Given the description of an element on the screen output the (x, y) to click on. 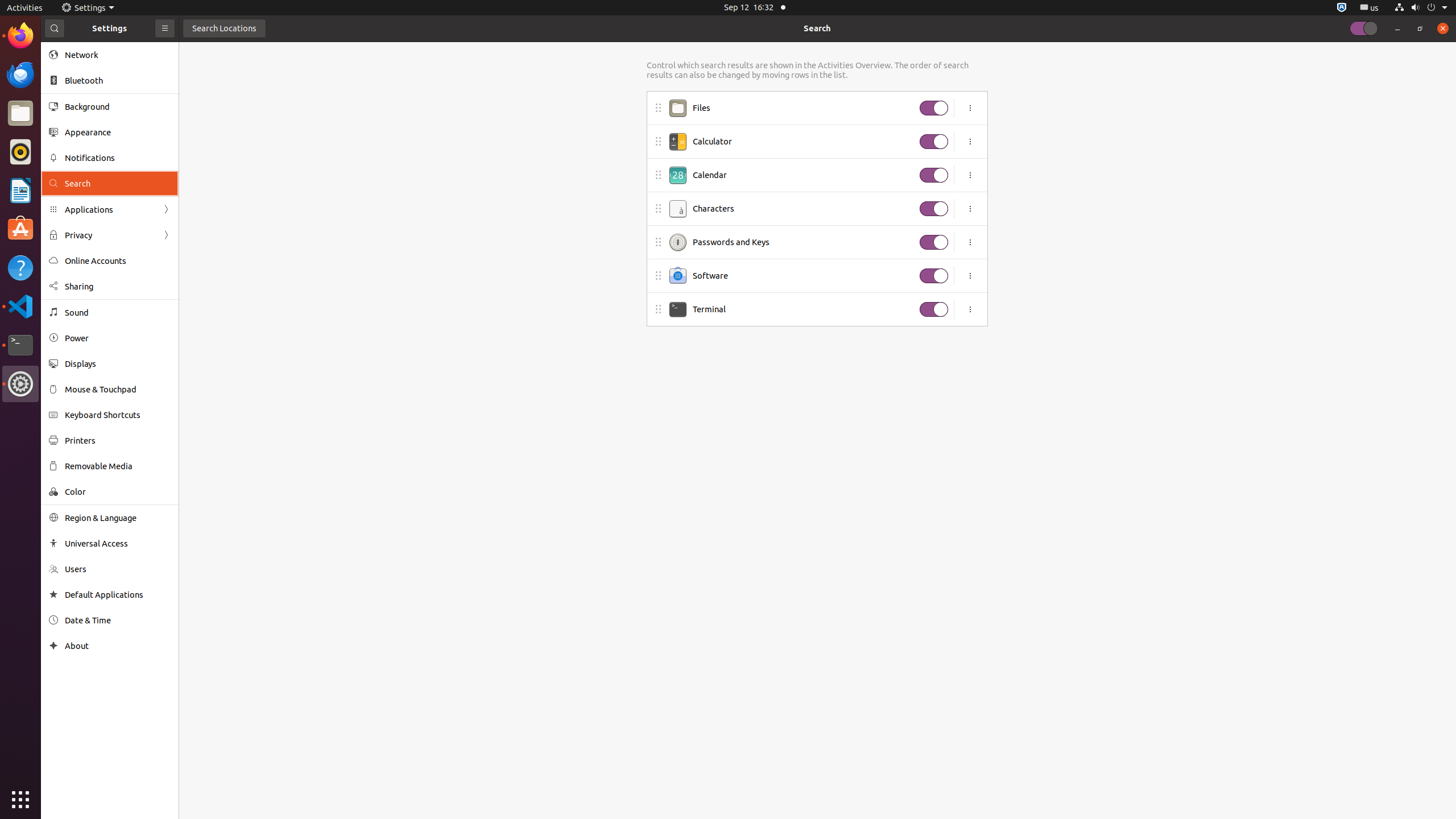
Control which search results are shown in the Activities Overview. The order of search results can also be changed by moving rows in the list. Element type: label (816, 69)
Settings Element type: menu (87, 7)
Forward Element type: icon (165, 235)
Search Element type: label (816, 27)
Default Applications Element type: label (117, 594)
